Given the description of an element on the screen output the (x, y) to click on. 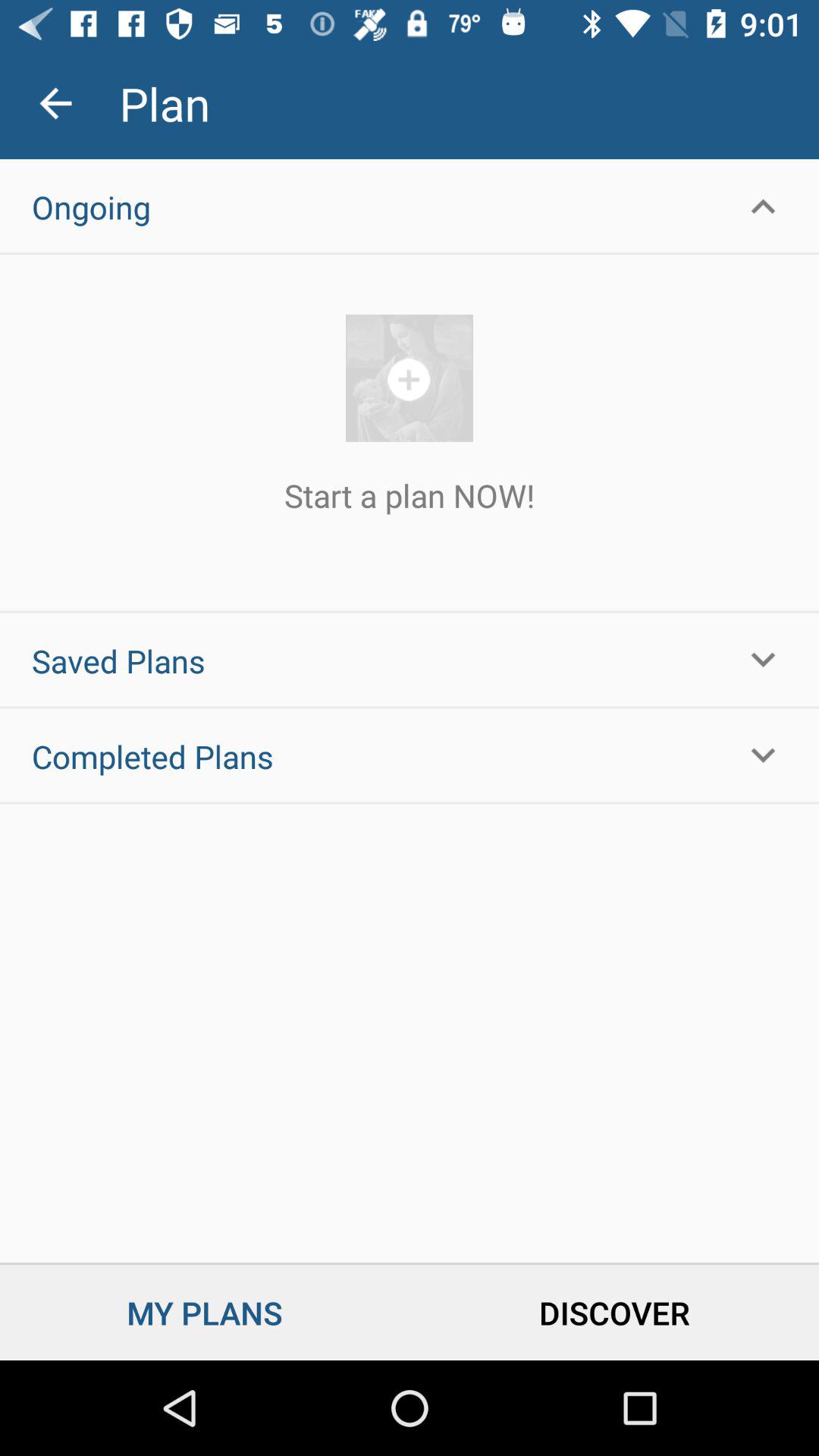
start new plan button (409, 377)
